Given the description of an element on the screen output the (x, y) to click on. 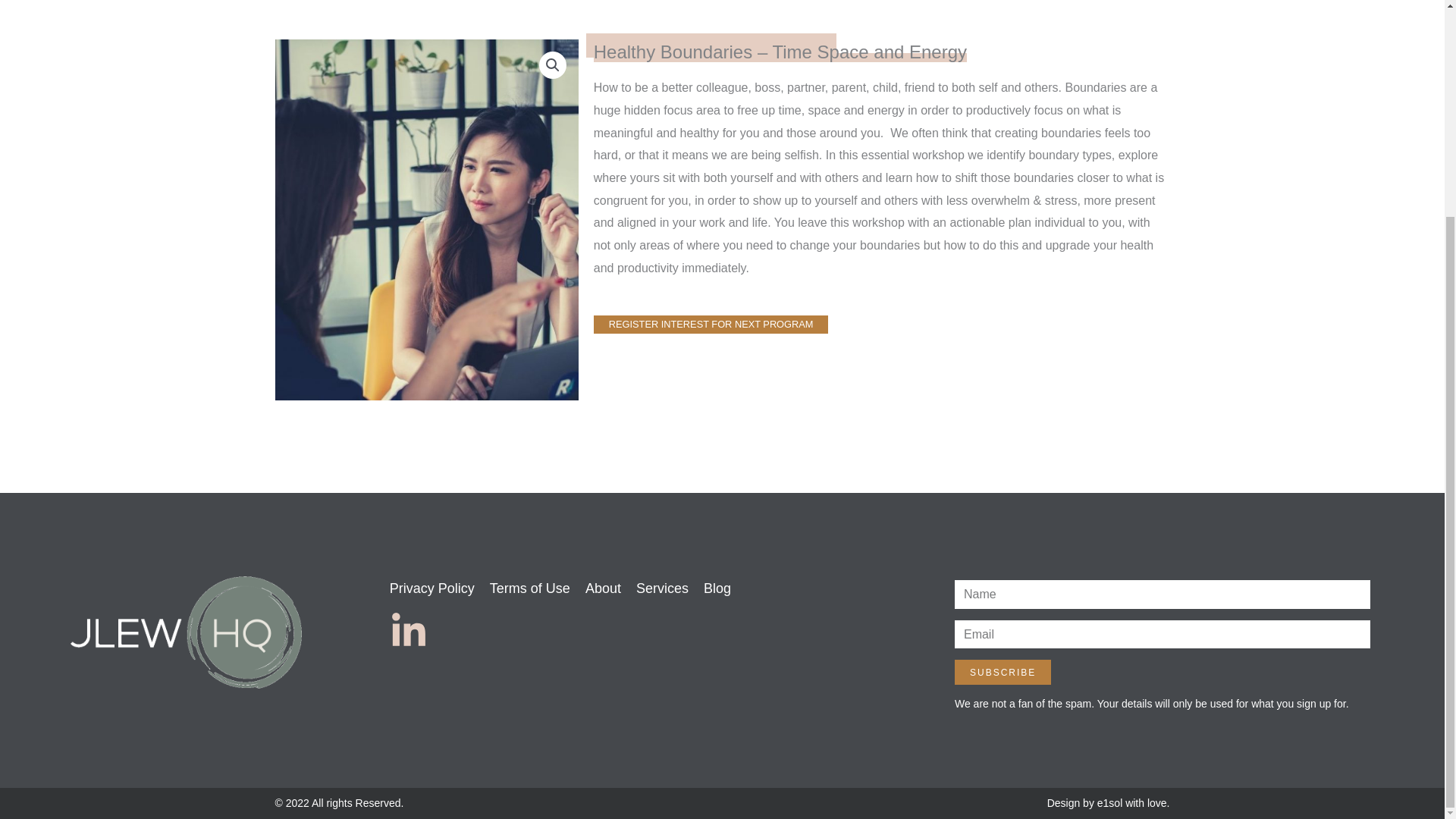
REGISTER INTEREST FOR NEXT PROGRAM (711, 324)
Privacy Policy (432, 588)
Terms of Use (529, 588)
